Given the description of an element on the screen output the (x, y) to click on. 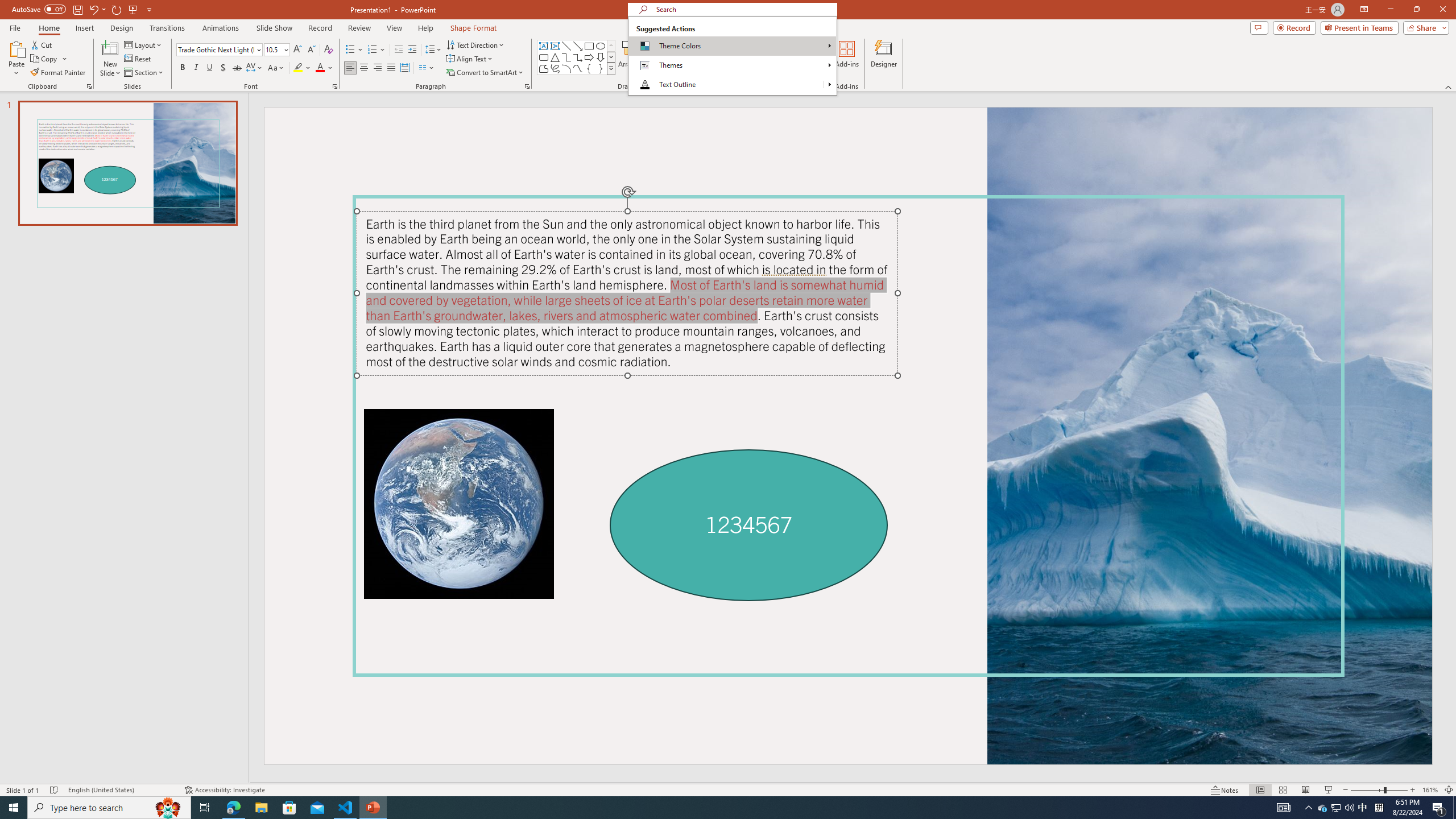
Class: NetUITWMenuContainer (731, 56)
